Given the description of an element on the screen output the (x, y) to click on. 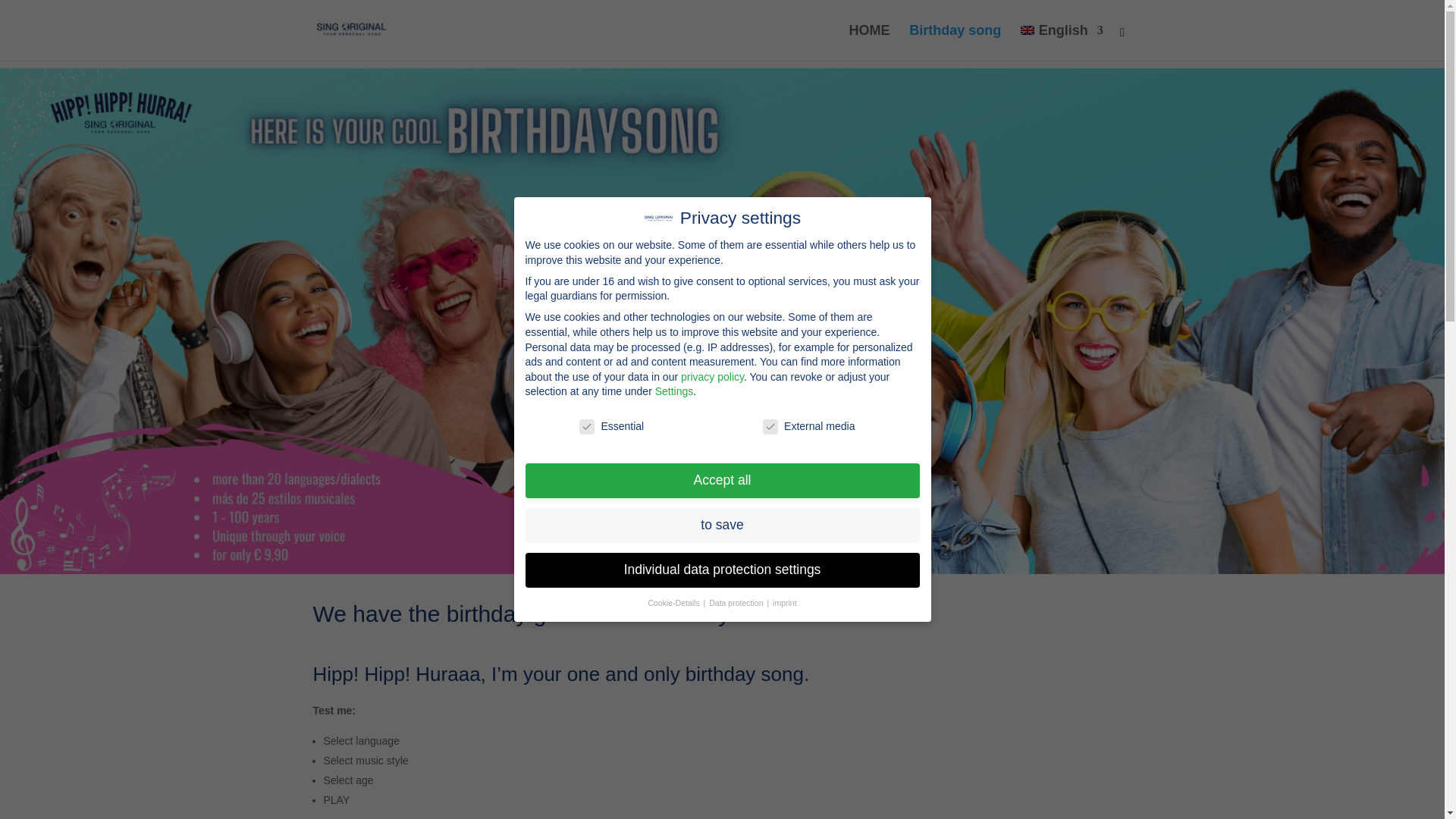
English (1061, 42)
Birthday song (954, 42)
English (1061, 42)
HOME (868, 42)
